Given the description of an element on the screen output the (x, y) to click on. 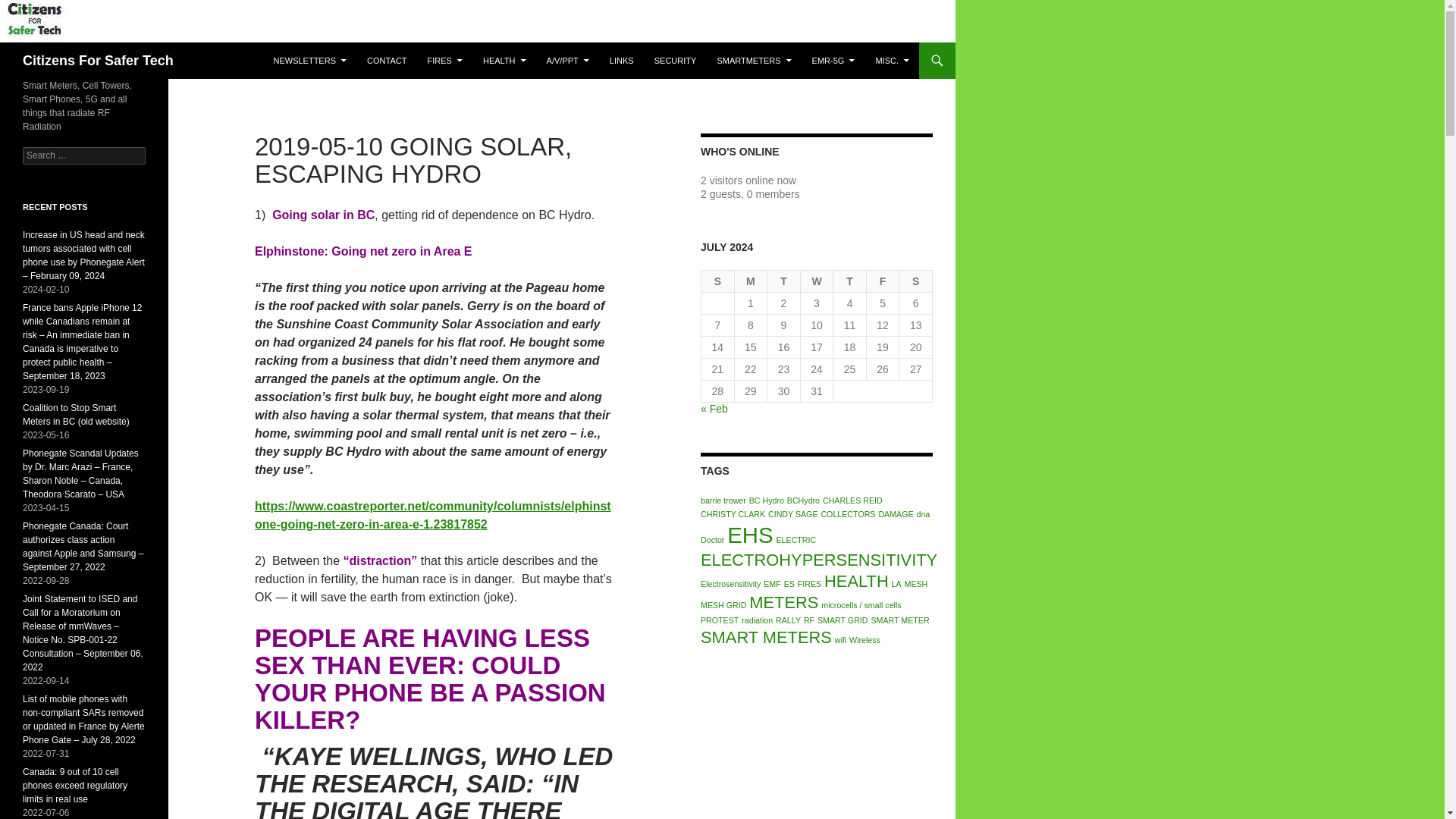
NEWSLETTERS (309, 60)
Tuesday (783, 281)
Wednesday (817, 281)
Thursday (849, 281)
Saturday (916, 281)
Citizens For Safer Tech (98, 60)
Sunday (718, 281)
Monday (751, 281)
Friday (882, 281)
